Given the description of an element on the screen output the (x, y) to click on. 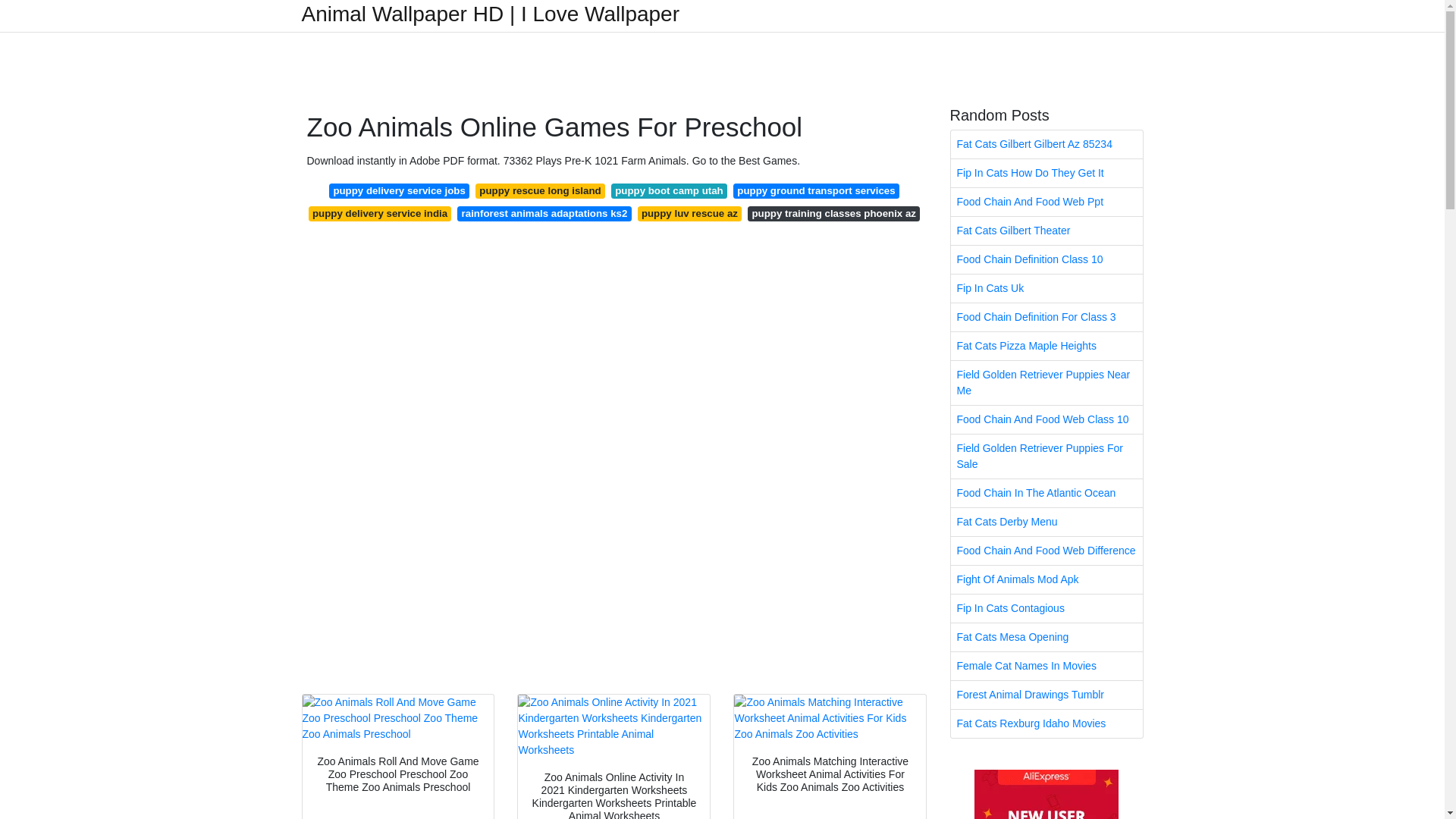
puppy rescue long island (540, 191)
Fip In Cats How Do They Get It (1046, 172)
Fip In Cats Uk (1046, 288)
Food Chain And Food Web Ppt (1046, 202)
Food Chain Definition Class 10 (1046, 259)
puppy ground transport services (816, 191)
rainforest animals adaptations ks2 (543, 213)
Food Chain And Food Web Class 10 (1046, 419)
Fat Cats Gilbert Gilbert Az 85234 (1046, 144)
puppy boot camp utah (668, 191)
puppy training classes phoenix az (834, 213)
Fat Cats Gilbert Theater (1046, 230)
puppy delivery service india (379, 213)
Food Chain Definition For Class 3 (1046, 317)
puppy luv rescue az (689, 213)
